Given the description of an element on the screen output the (x, y) to click on. 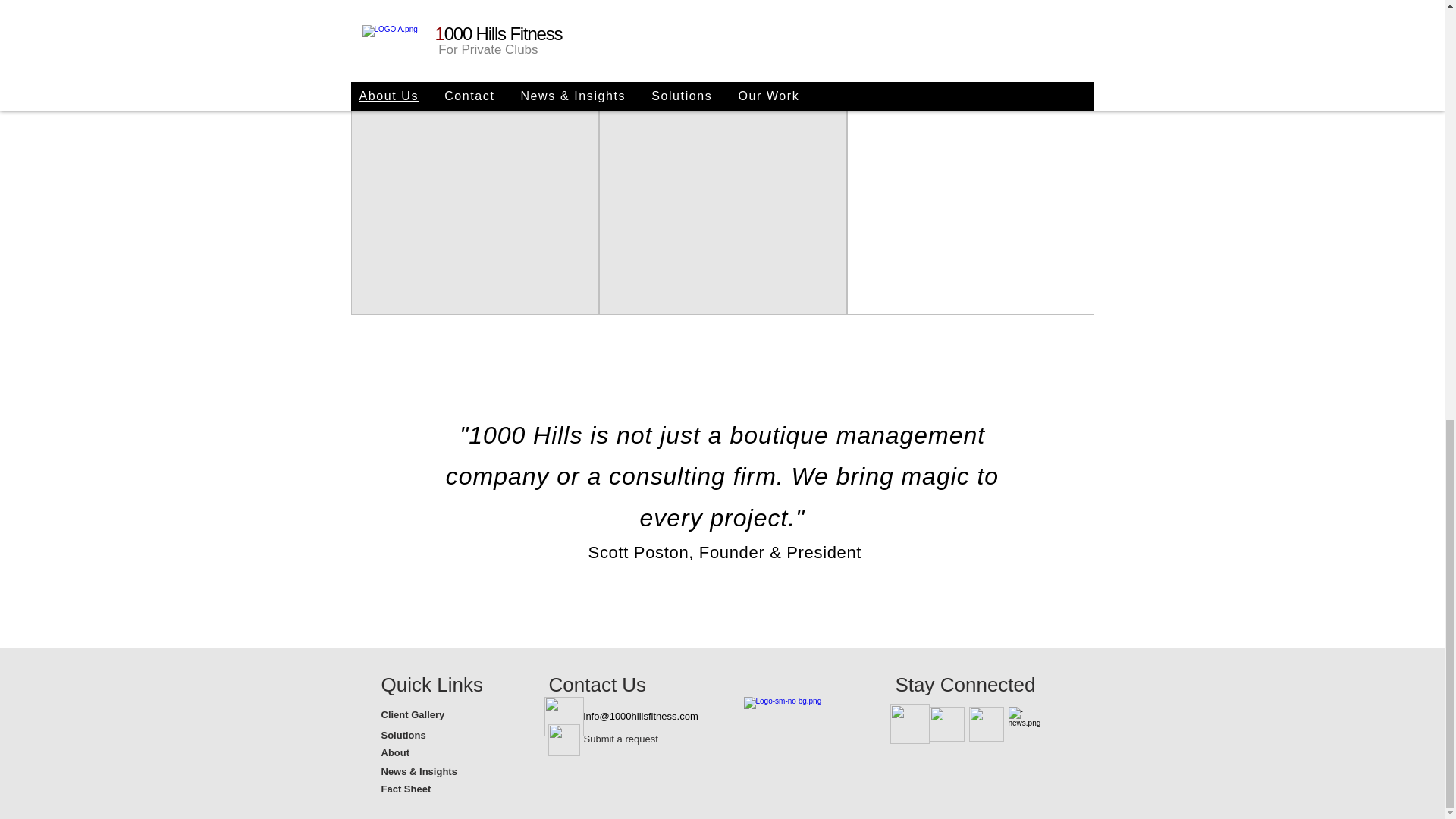
Solutions (433, 735)
Submit a request (637, 739)
Client Gallery (433, 714)
Fact Sheet (433, 789)
About (433, 753)
